Given the description of an element on the screen output the (x, y) to click on. 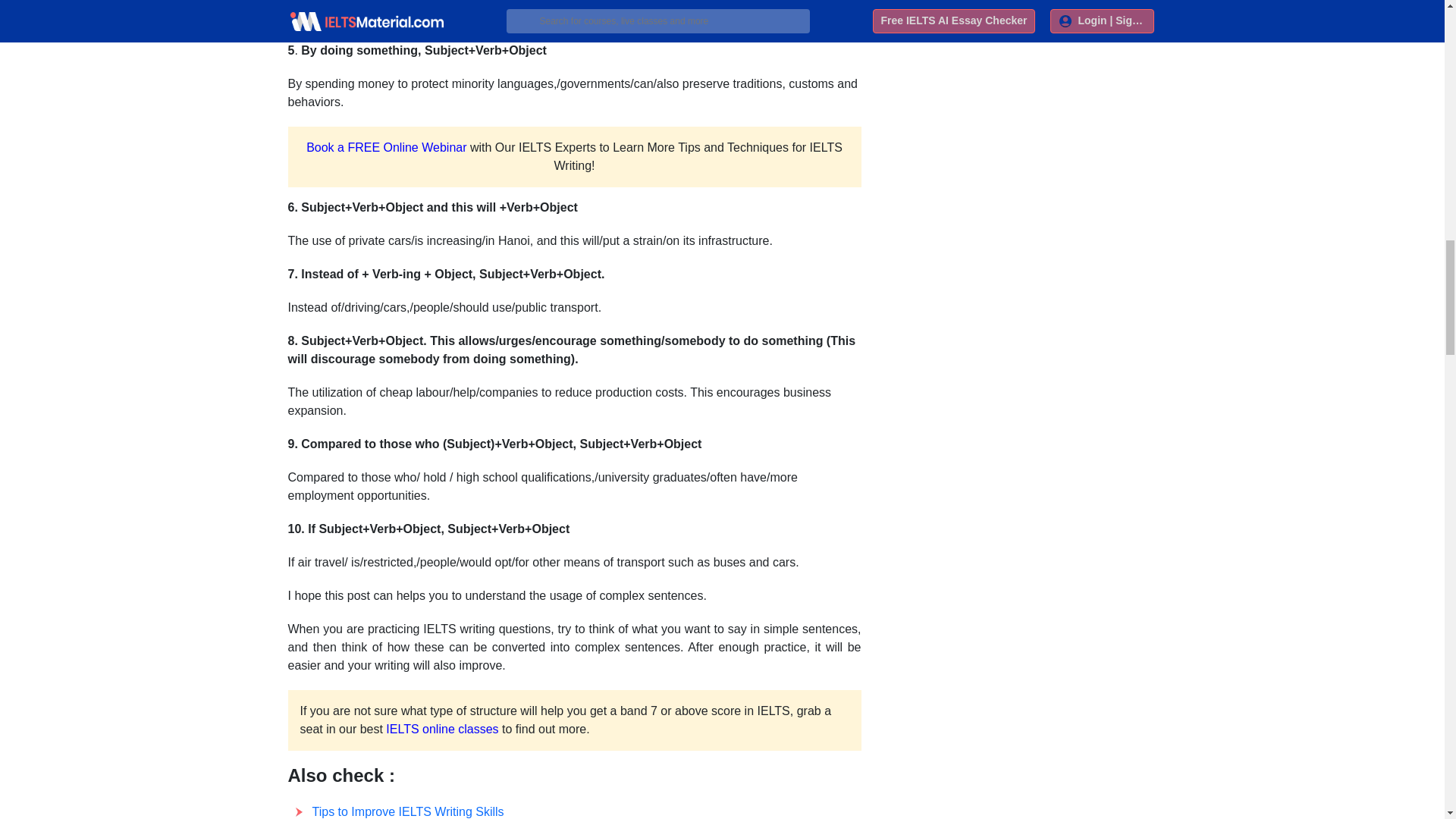
Tips to Improve IELTS Writing Skills (408, 811)
Book a FREE Online Webinar (385, 146)
IELTS online classes (440, 728)
